Given the description of an element on the screen output the (x, y) to click on. 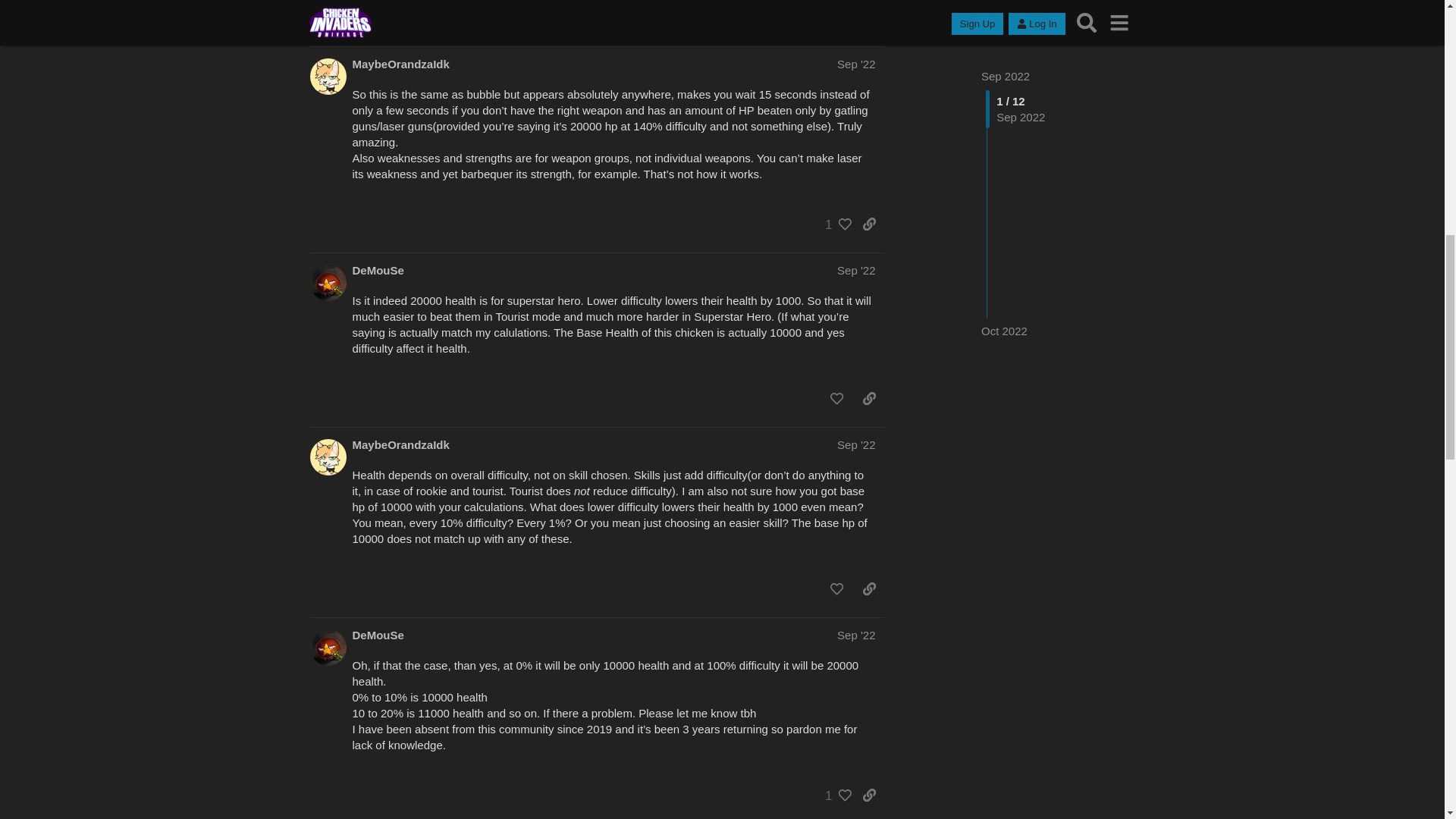
1 (833, 17)
Sep '22 (856, 63)
MaybeOrandzaIdk (400, 64)
1 (833, 224)
